Given the description of an element on the screen output the (x, y) to click on. 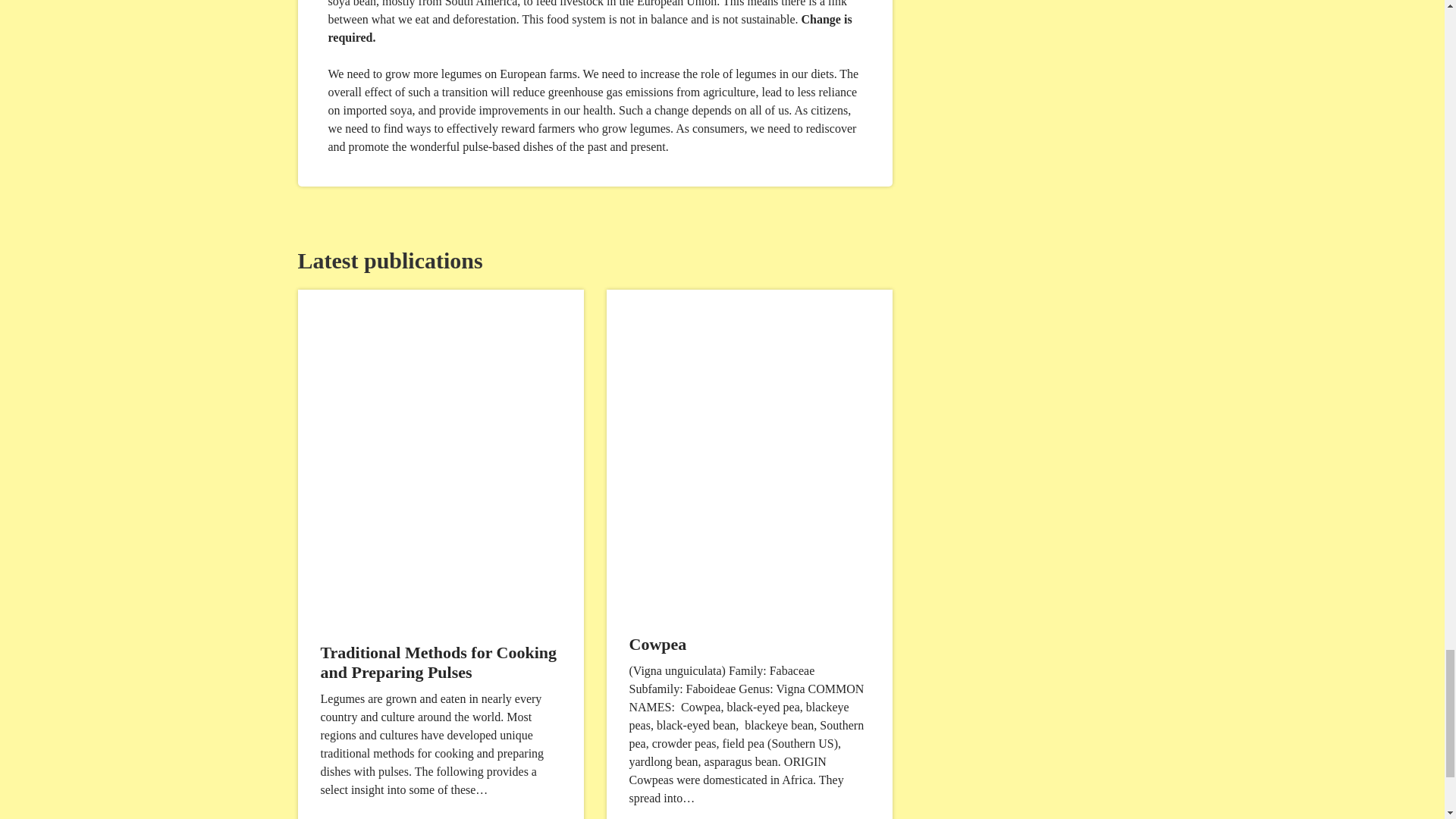
Traditional Methods for Cooking and Preparing Pulses (438, 661)
Cowpea (657, 643)
